Given the description of an element on the screen output the (x, y) to click on. 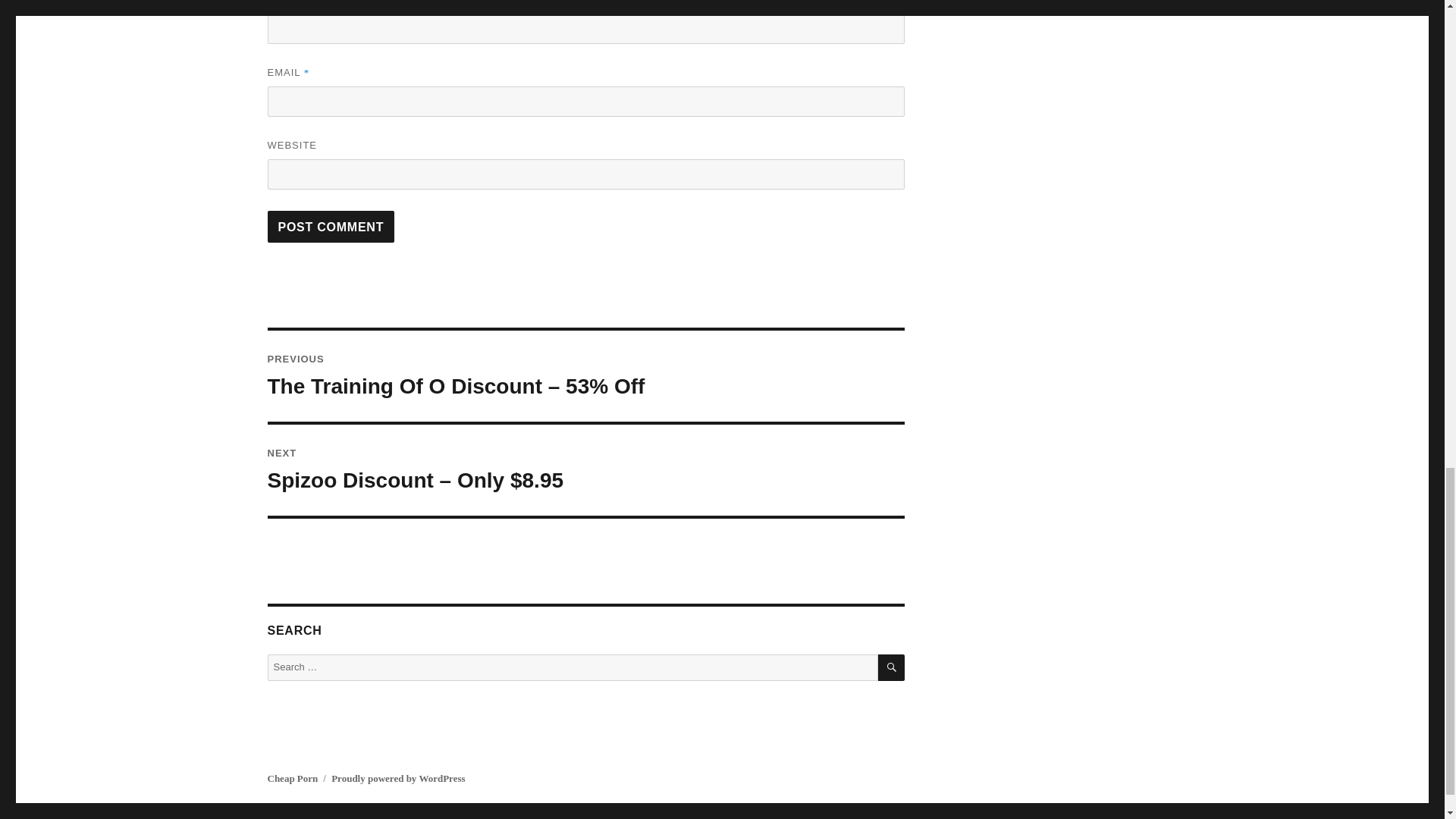
Post Comment (330, 226)
SEARCH (890, 667)
Post Comment (330, 226)
